Given the description of an element on the screen output the (x, y) to click on. 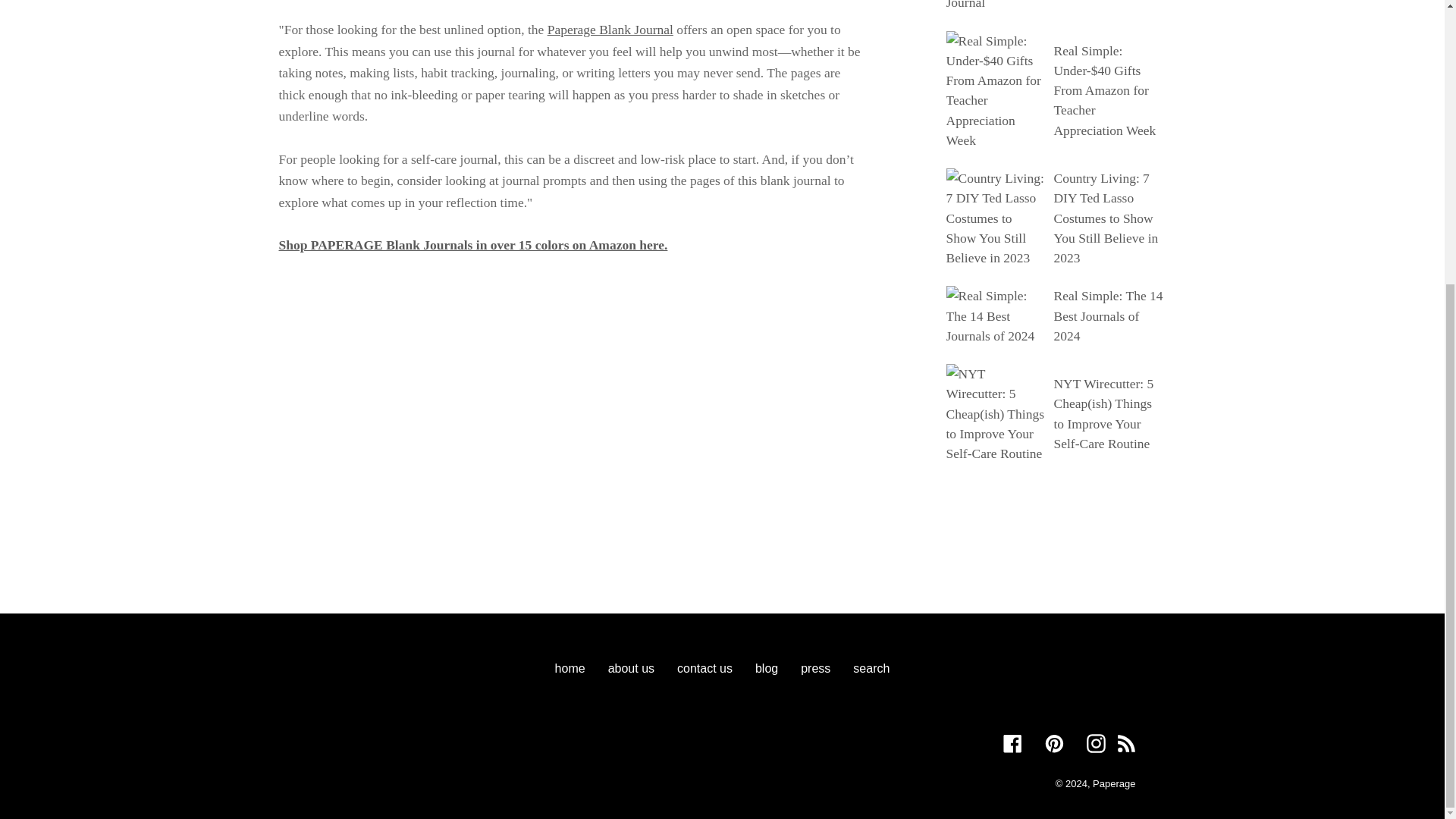
PAPERAGE Blank Journals on Amazon (473, 244)
PAPERAGE Blank Journal Notebooks on Amazon (609, 29)
Real Simple: The 14 Best Journals of 2024 (1106, 315)
